Given the description of an element on the screen output the (x, y) to click on. 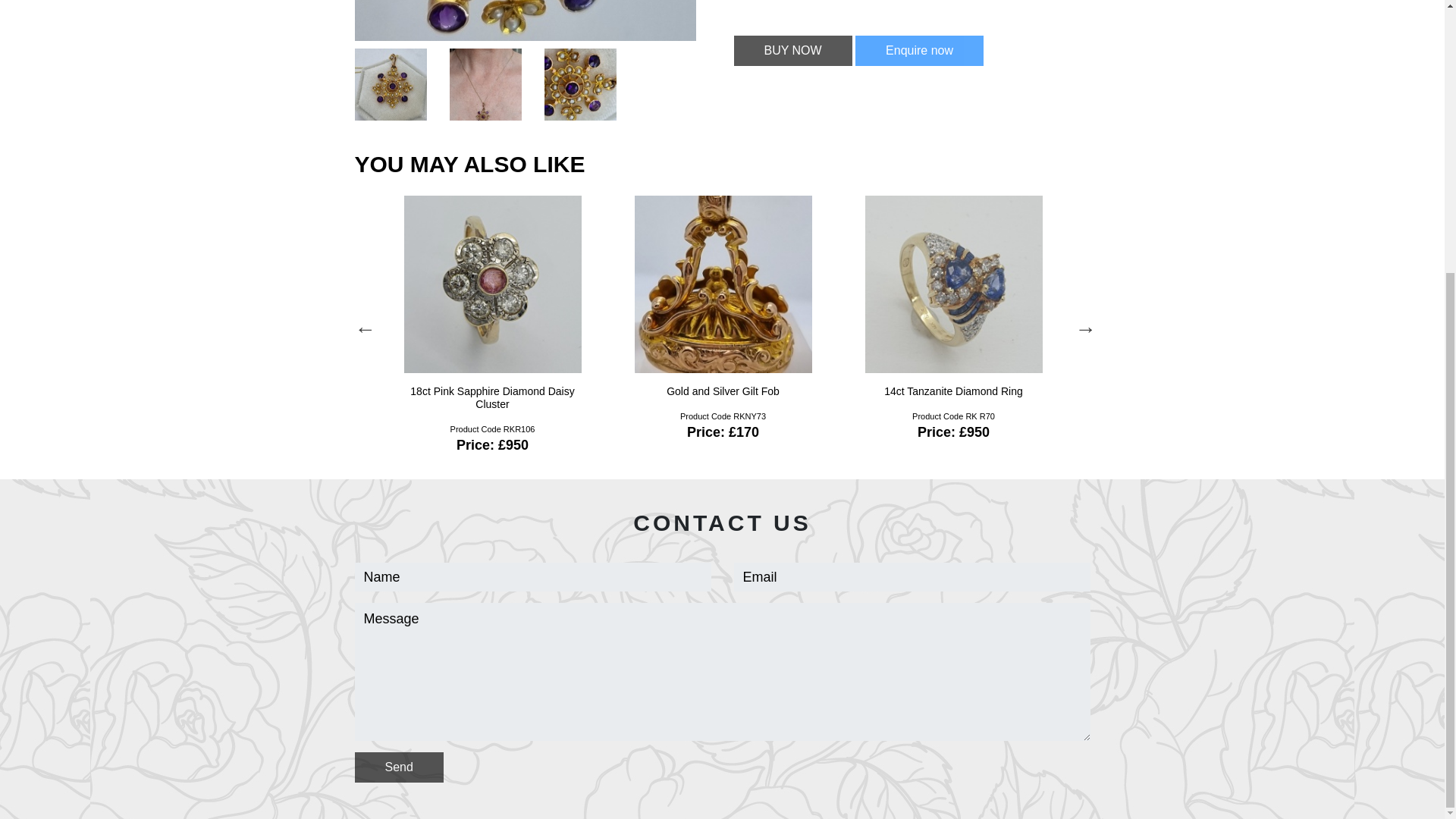
Enquire now (920, 51)
BUY NOW (792, 51)
YOU MAY ALSO LIKE (470, 163)
Previous (362, 325)
